Given the description of an element on the screen output the (x, y) to click on. 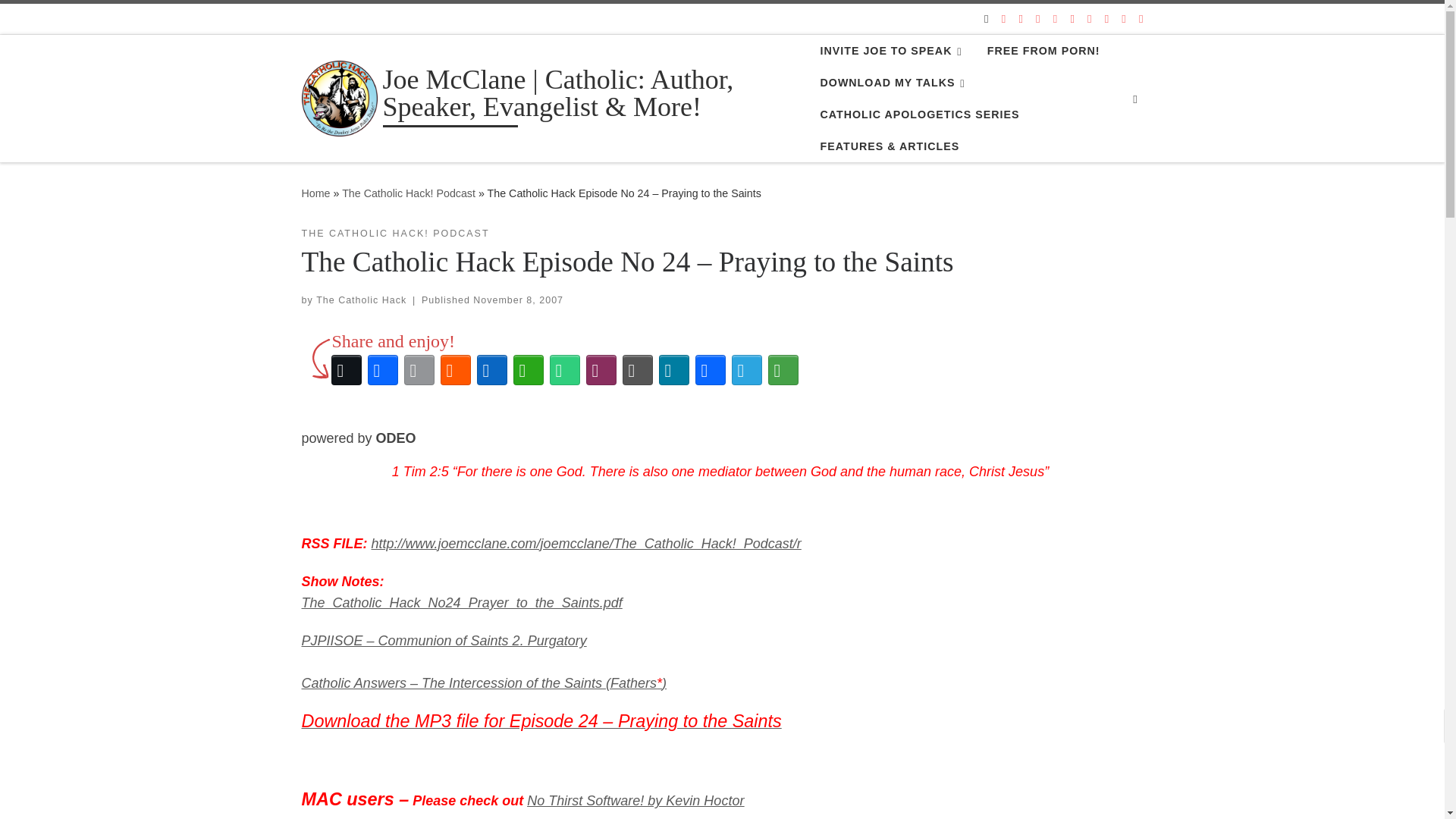
INVITE JOE TO SPEAK (893, 50)
Email This (418, 370)
The Catholic Hack! Podcast (409, 193)
Skip to content (60, 20)
FREE FROM PORN! (1043, 50)
CATHOLIC APOLOGETICS SERIES (919, 114)
View all posts in The Catholic Hack! Podcast (395, 233)
10:05 am (518, 299)
DOWNLOAD MY TALKS (895, 82)
Reddit (454, 370)
